Given the description of an element on the screen output the (x, y) to click on. 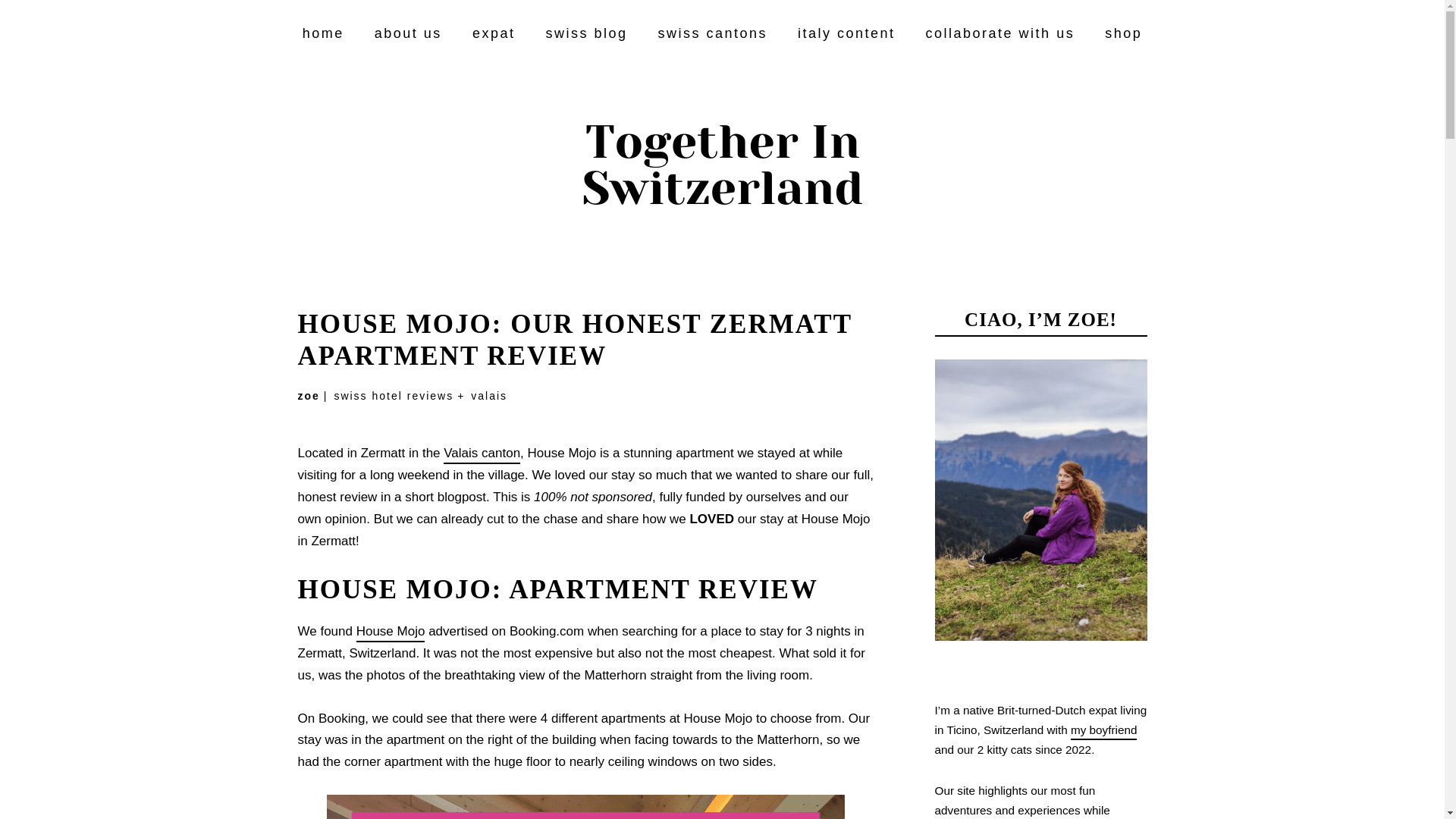
expat (493, 36)
home (322, 36)
about us (408, 36)
swiss cantons (712, 36)
swiss blog (585, 36)
